Given the description of an element on the screen output the (x, y) to click on. 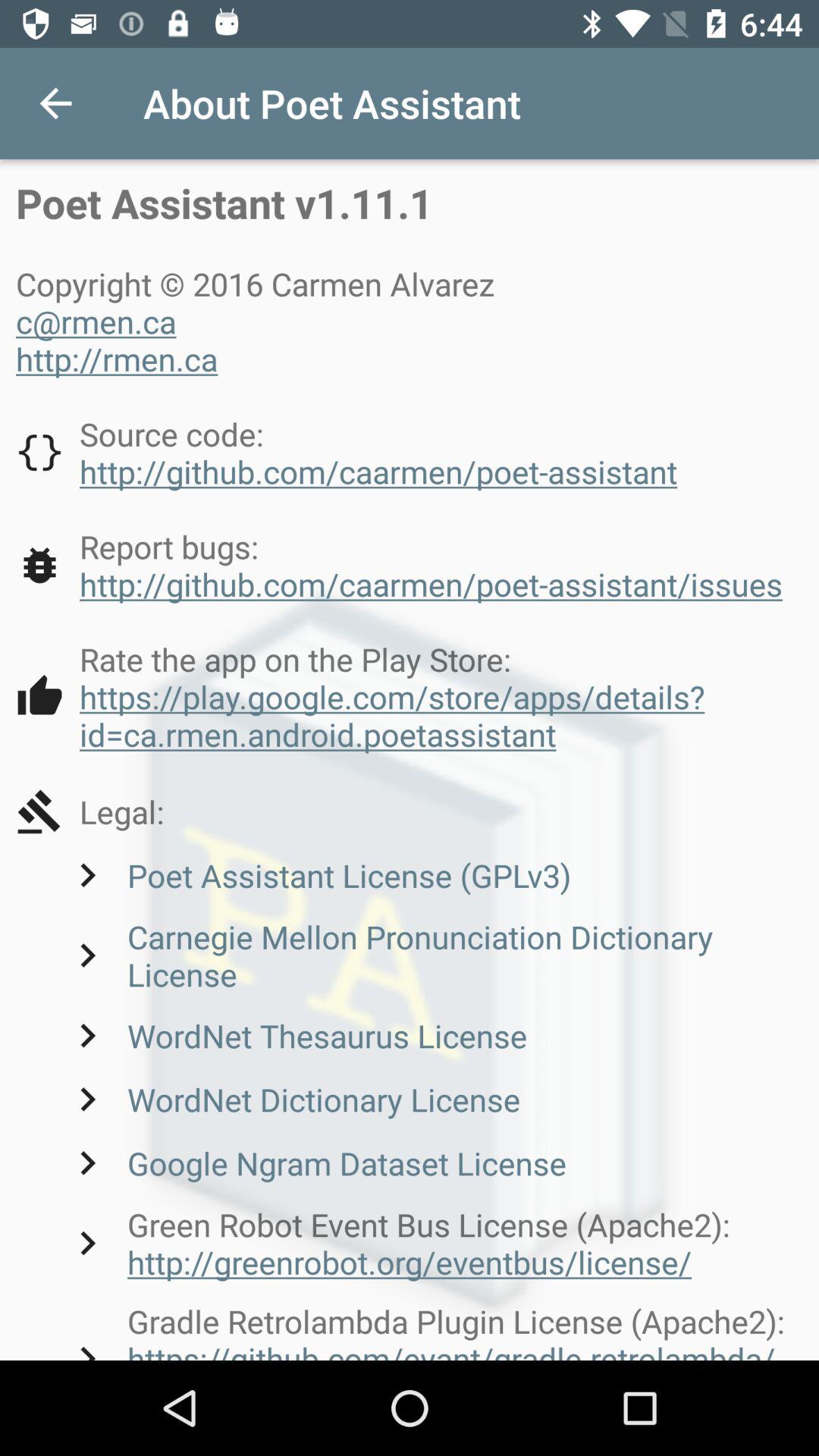
select icon below poet assistant v1 icon (260, 321)
